Given the description of an element on the screen output the (x, y) to click on. 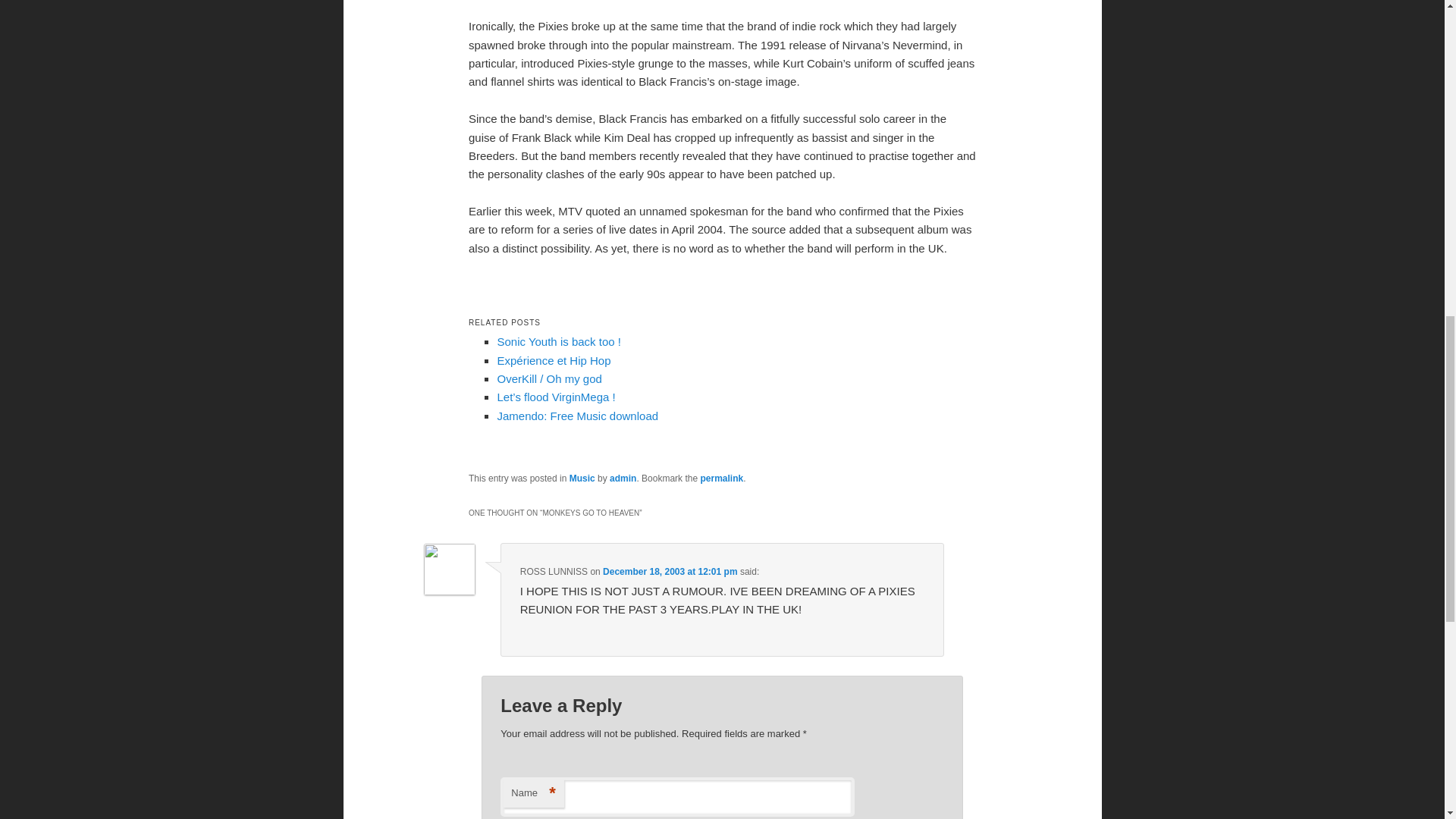
Permalink to Monkeys go to heaven (721, 478)
View all posts in Music (582, 478)
Music (582, 478)
admin (623, 478)
Jamendo: Free Music download (577, 415)
permalink (721, 478)
Sonic Youth is back too ! (558, 341)
December 18, 2003 at 12:01 pm (669, 571)
